Given the description of an element on the screen output the (x, y) to click on. 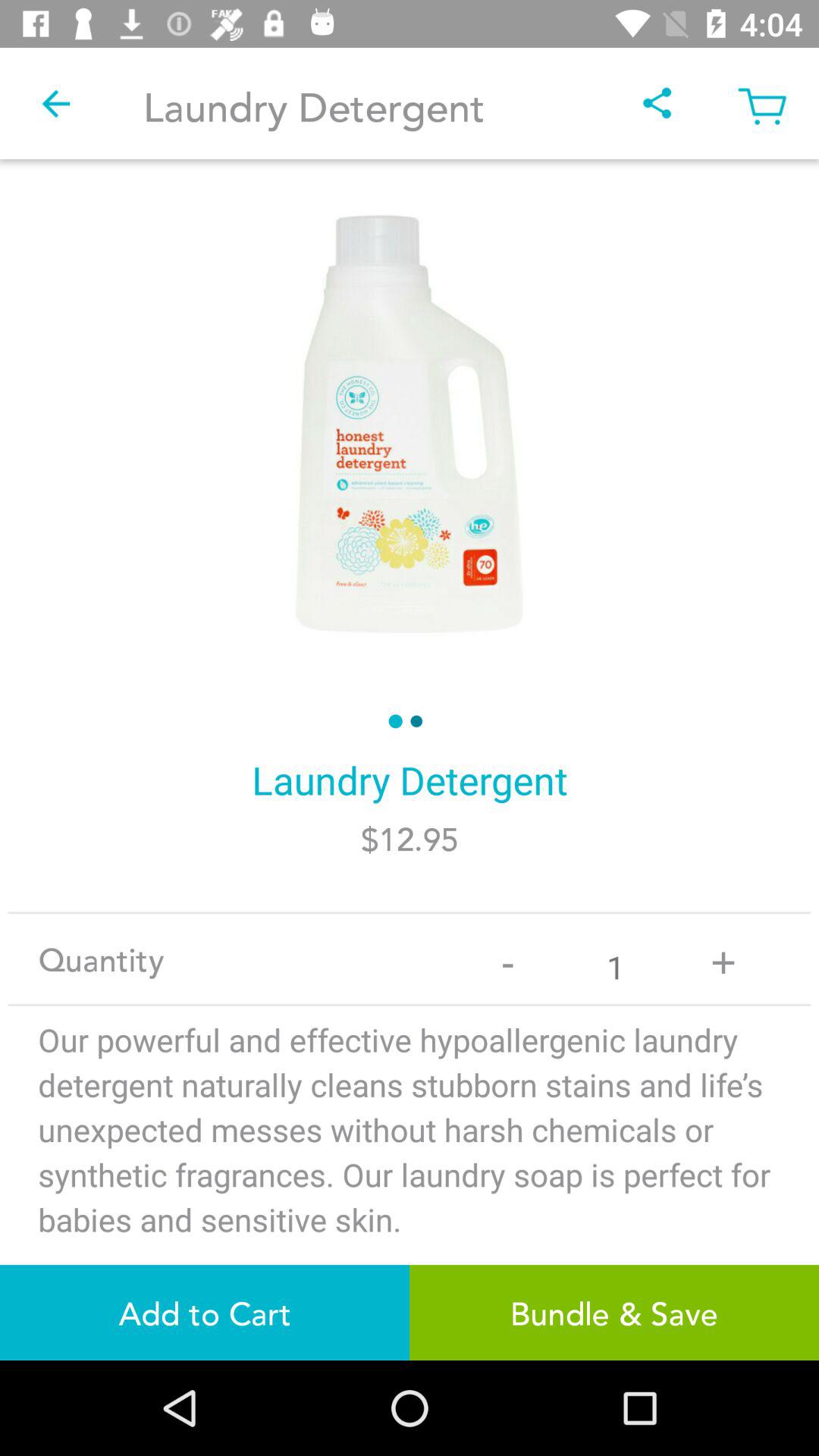
turn off the + item (723, 958)
